Given the description of an element on the screen output the (x, y) to click on. 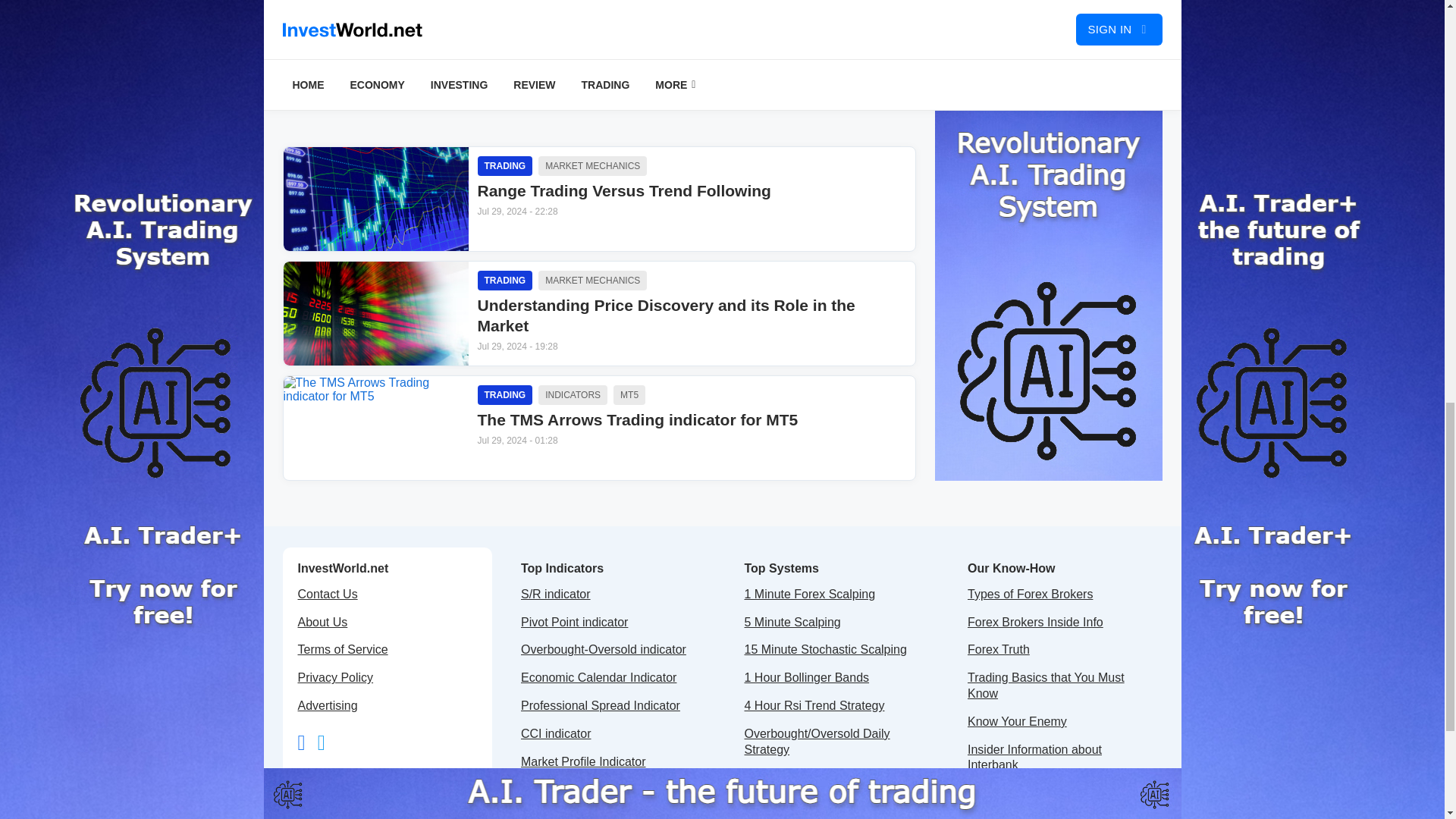
TRADING (504, 280)
TRADING (504, 394)
TRADING (504, 166)
MARKET MECHANICS (592, 166)
MARKET MECHANICS (691, 232)
INDICATORS (592, 280)
MT5 (572, 394)
